Given the description of an element on the screen output the (x, y) to click on. 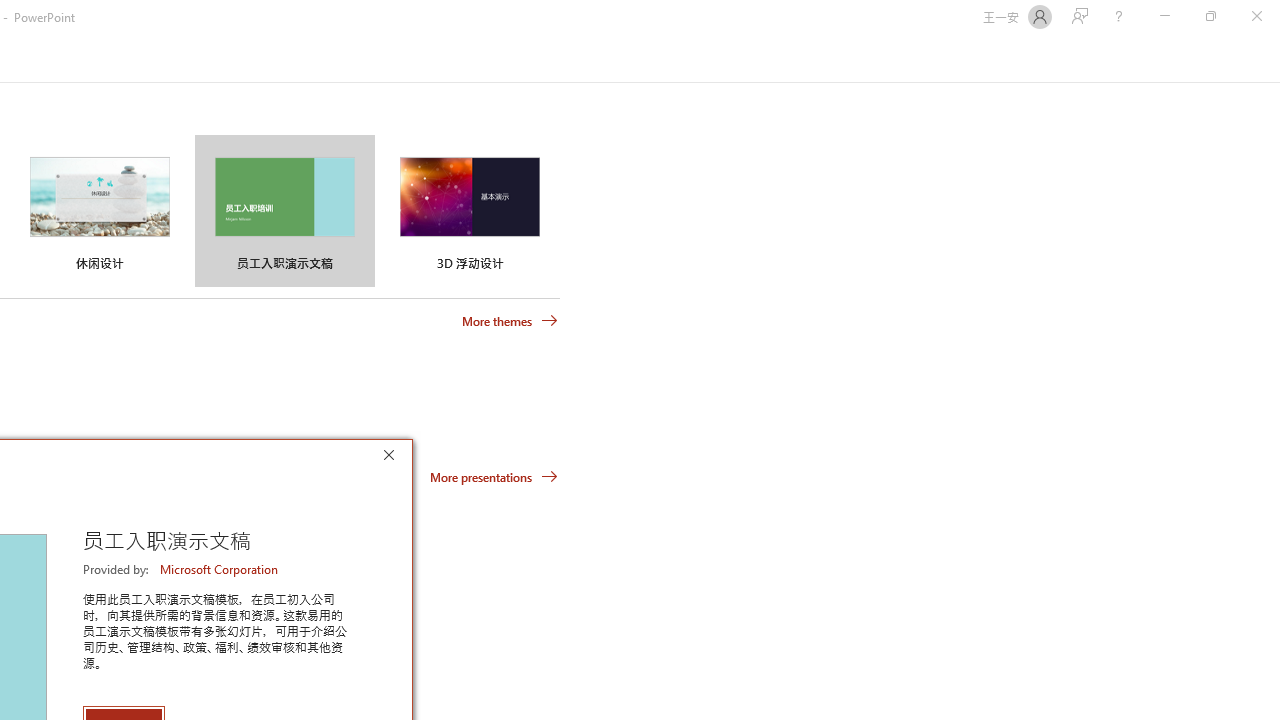
More presentations (493, 476)
Microsoft Corporation (220, 569)
More themes (509, 321)
